Given the description of an element on the screen output the (x, y) to click on. 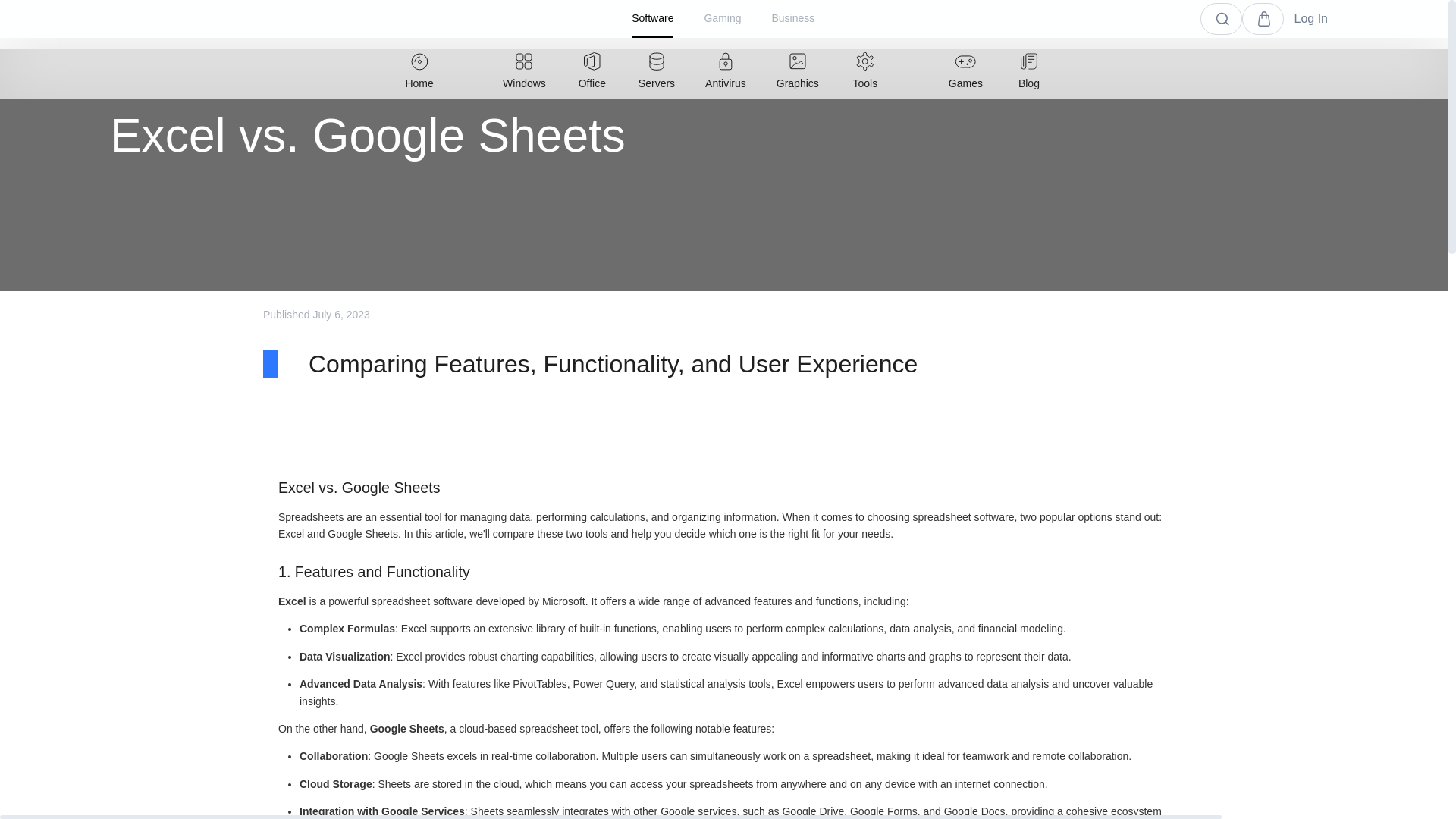
Blog (1028, 67)
Games (965, 67)
Business (792, 18)
Servers (656, 67)
Office (591, 67)
Software (651, 18)
Windows (523, 67)
Log In (1311, 18)
Home (418, 67)
